Given the description of an element on the screen output the (x, y) to click on. 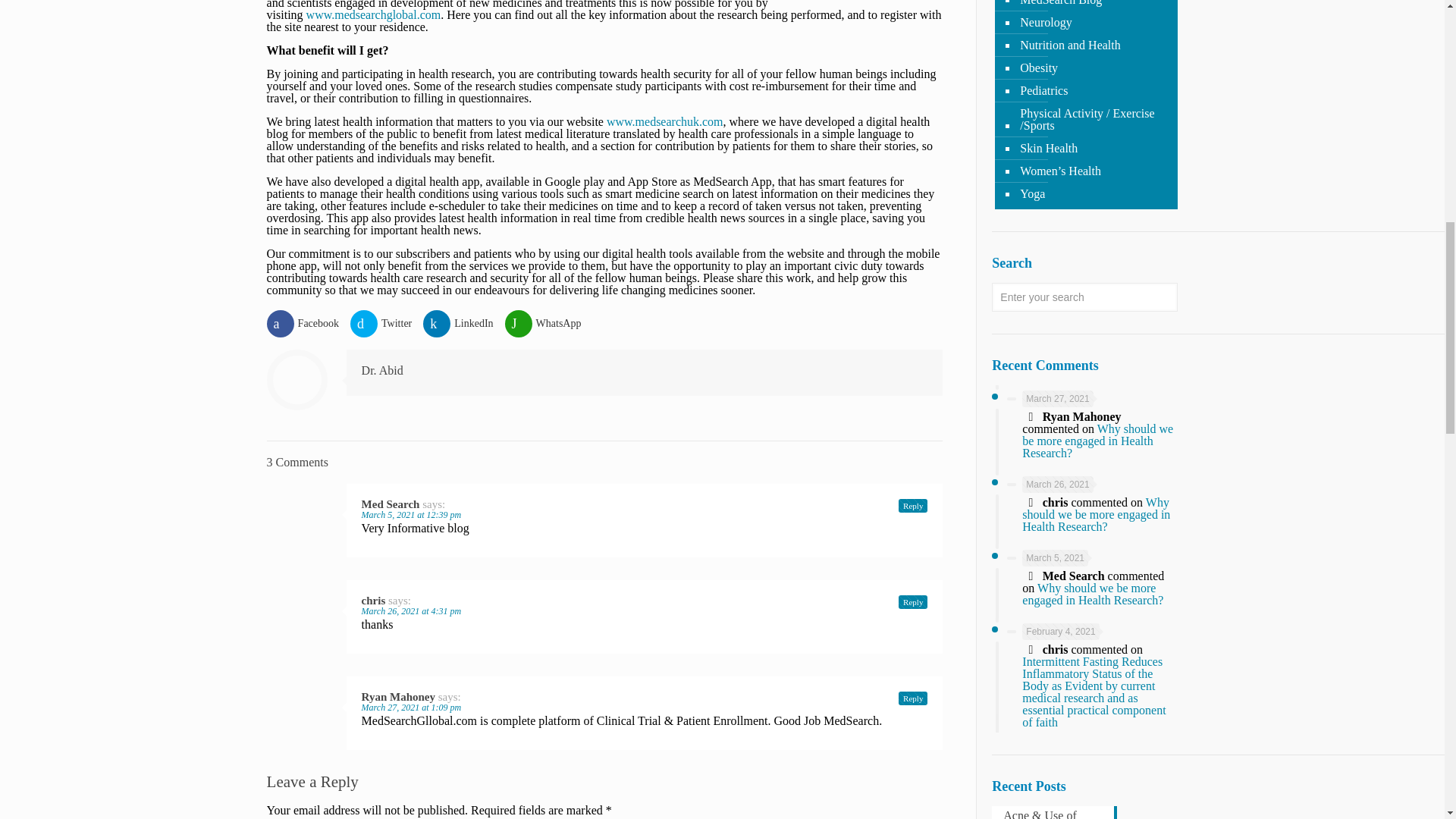
Dr. Abid (382, 369)
LinkedIn (463, 323)
 www.medsearchglobal.com (371, 14)
Share on WhatsApp (548, 323)
Share on Twitter (386, 323)
Share on Facebook (308, 323)
www.medsearchuk.com (665, 121)
WhatsApp (548, 323)
Twitter (386, 323)
Share on LinkedIn (463, 323)
